Given the description of an element on the screen output the (x, y) to click on. 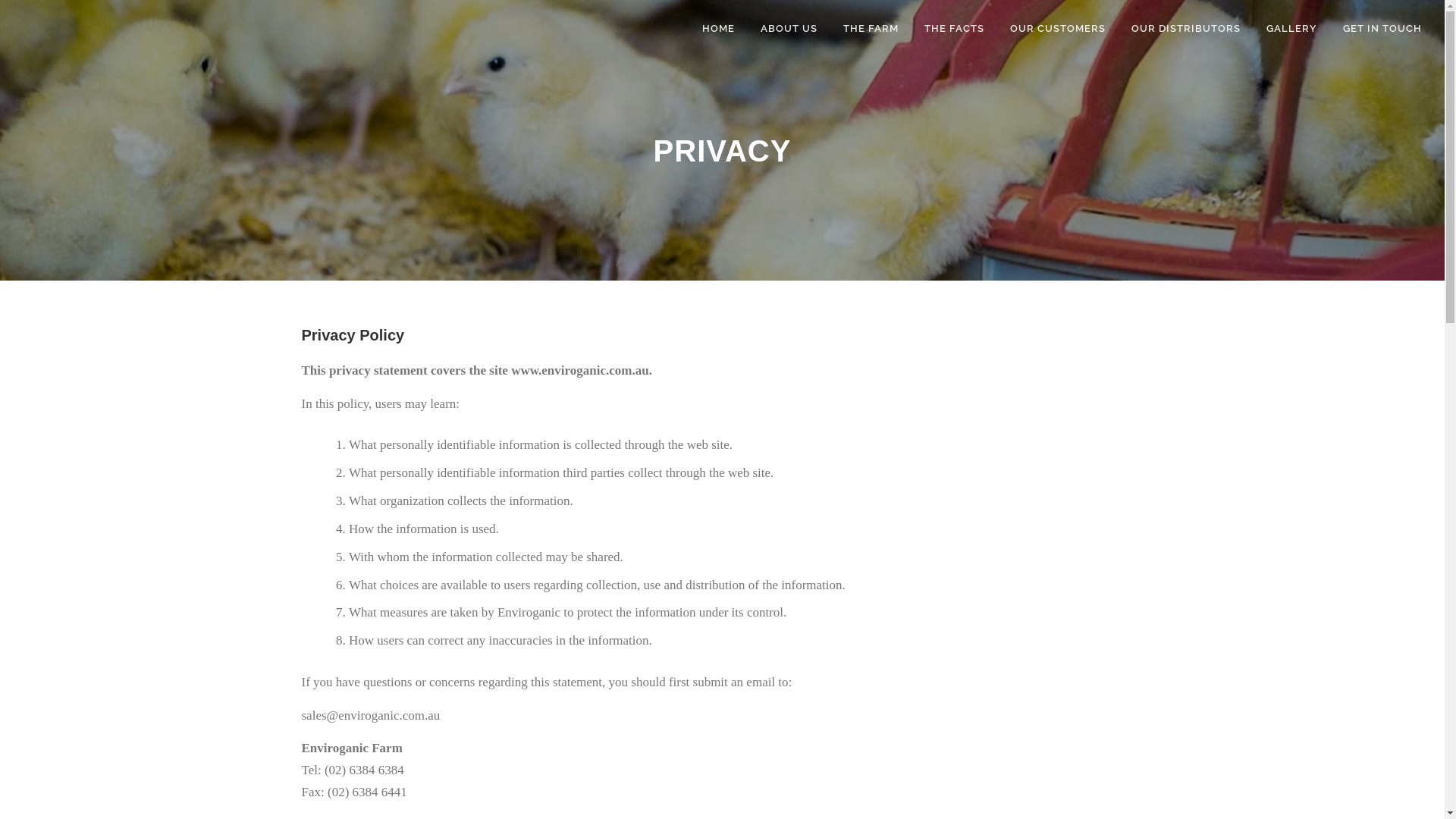
HOME Element type: text (718, 28)
THE FACTS Element type: text (954, 28)
THE FARM Element type: text (870, 28)
ABOUT US Element type: text (788, 28)
OUR DISTRIBUTORS Element type: text (1185, 28)
OUR CUSTOMERS Element type: text (1057, 28)
GET IN TOUCH Element type: text (1375, 28)
GALLERY Element type: text (1291, 28)
